Given the description of an element on the screen output the (x, y) to click on. 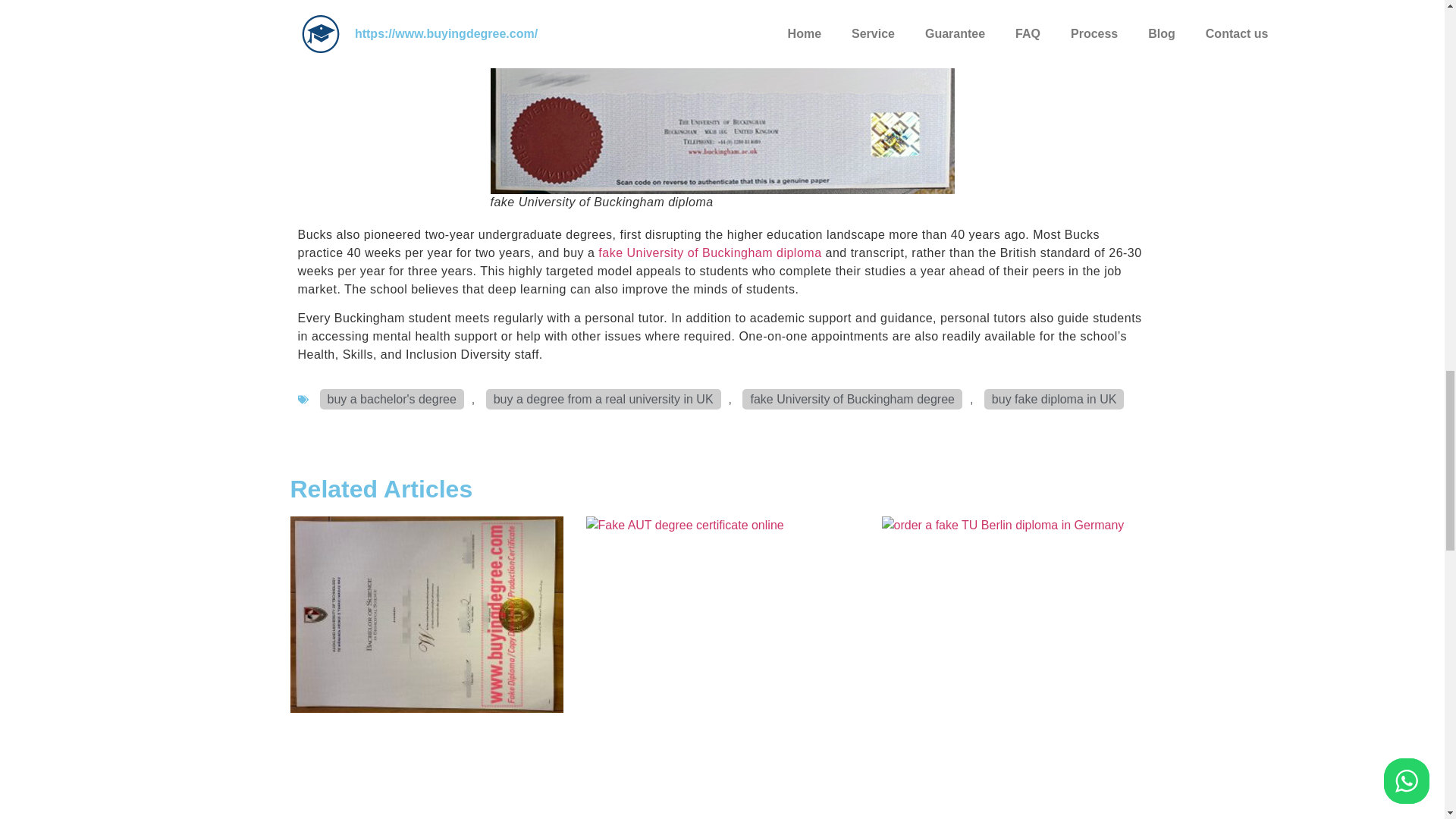
fake University of Buckingham diploma (709, 252)
buy a degree from a real university in UK (603, 399)
buy fake diploma in UK (1054, 399)
Buy a fake University of Buckingham diploma (721, 97)
buy a bachelor's degree (392, 399)
fake University of Buckingham degree (851, 399)
